Given the description of an element on the screen output the (x, y) to click on. 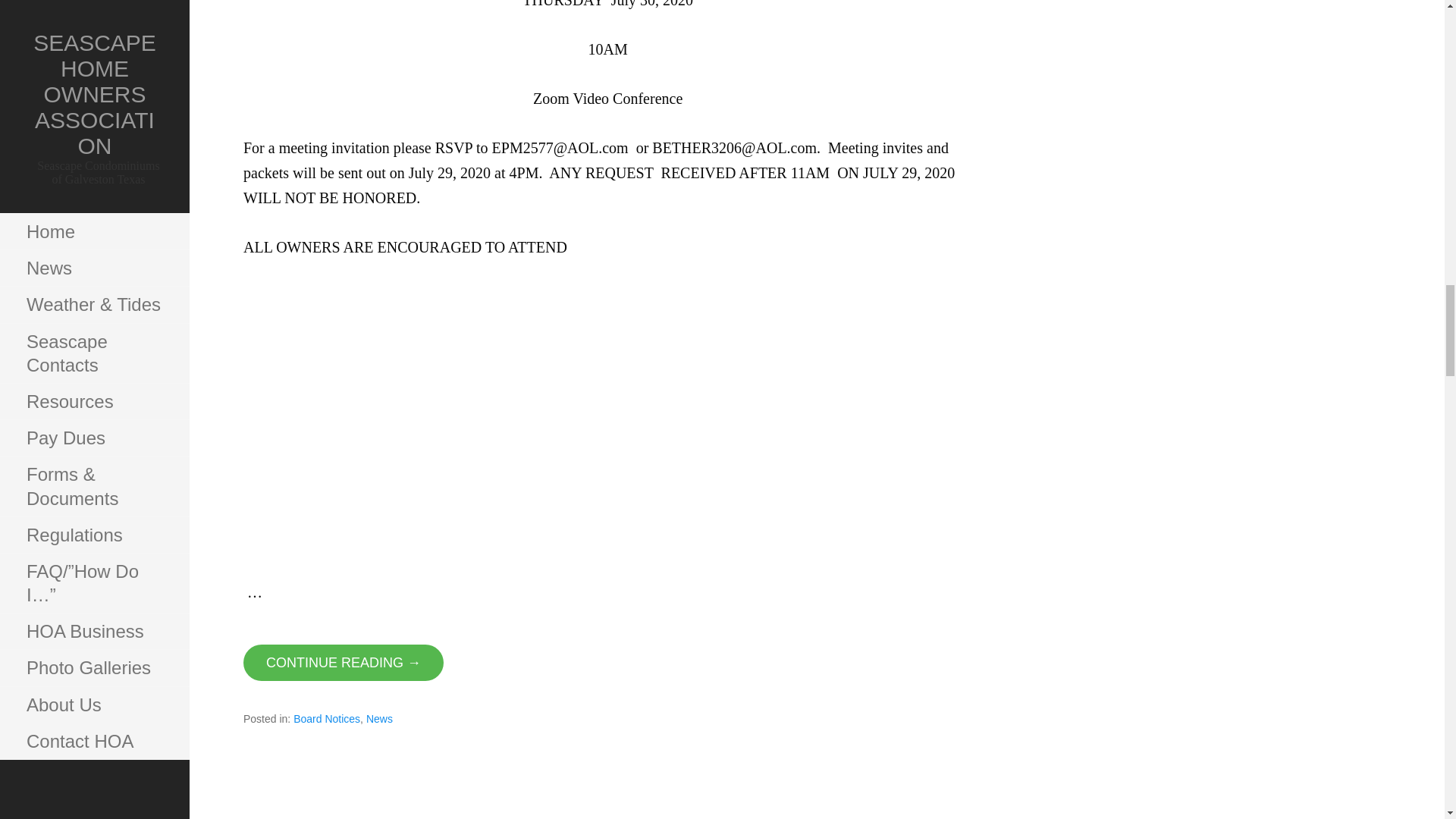
Board Notices (326, 718)
